Given the description of an element on the screen output the (x, y) to click on. 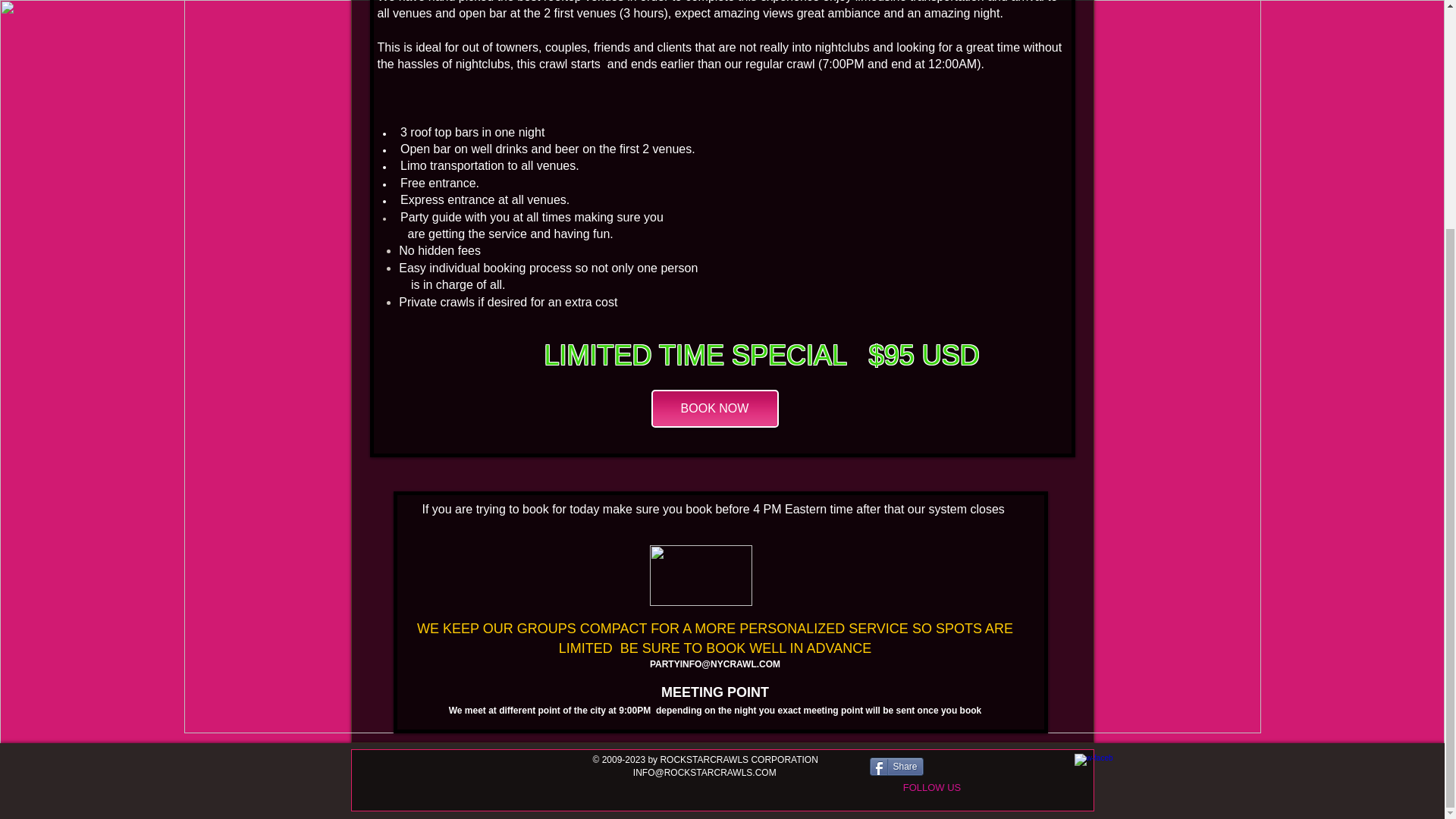
Share (896, 766)
Share (896, 766)
